Given the description of an element on the screen output the (x, y) to click on. 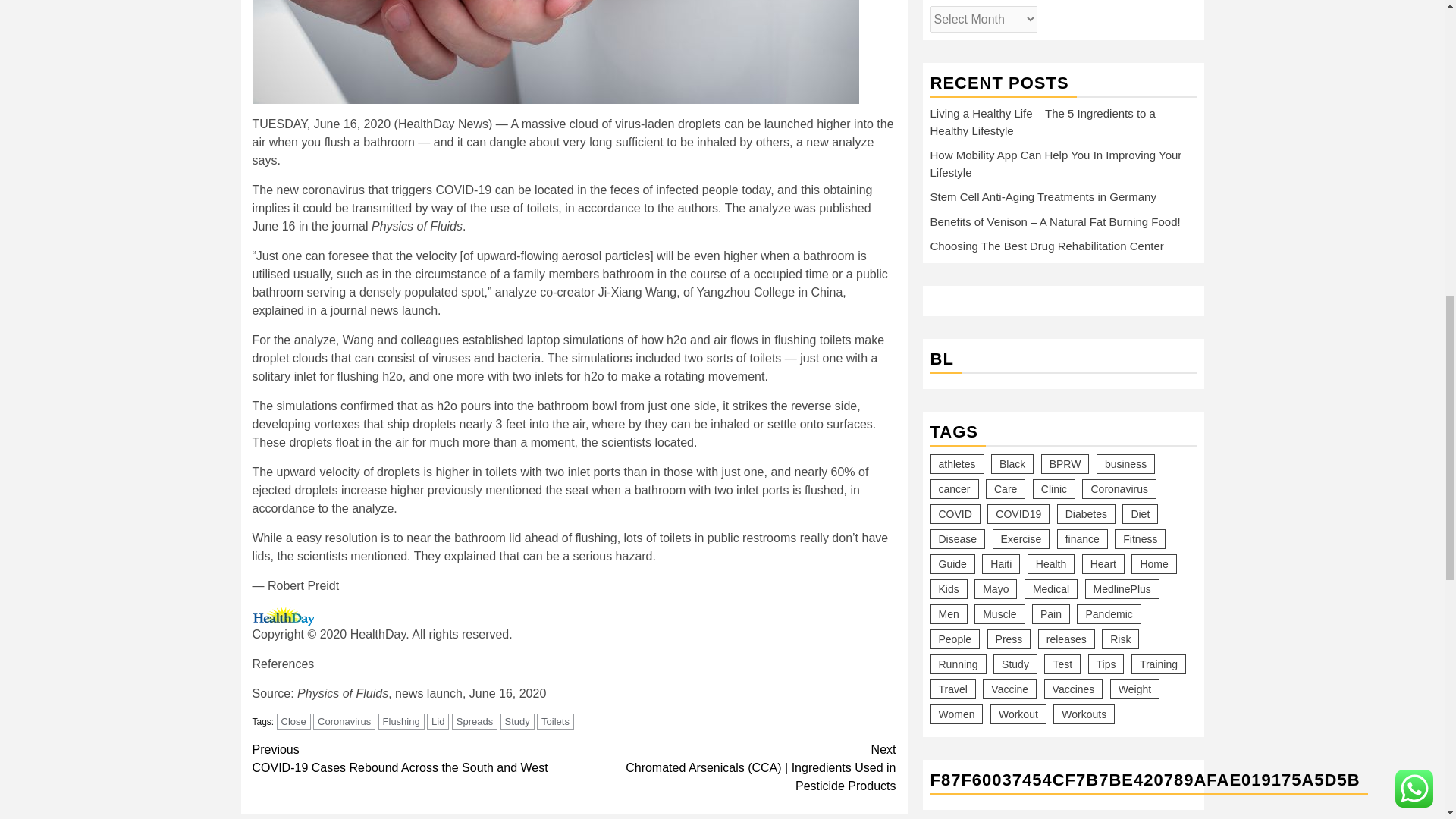
Toilets (555, 721)
Study (517, 721)
Coronavirus (344, 721)
Spreads (474, 721)
Lid (437, 721)
Flushing (412, 759)
Close (401, 721)
